Given the description of an element on the screen output the (x, y) to click on. 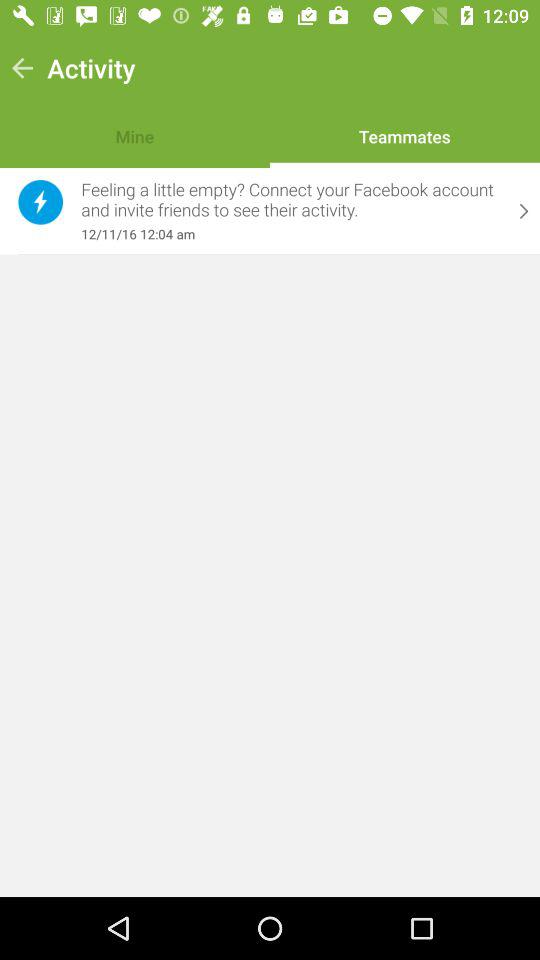
launch the feeling a little (291, 200)
